Given the description of an element on the screen output the (x, y) to click on. 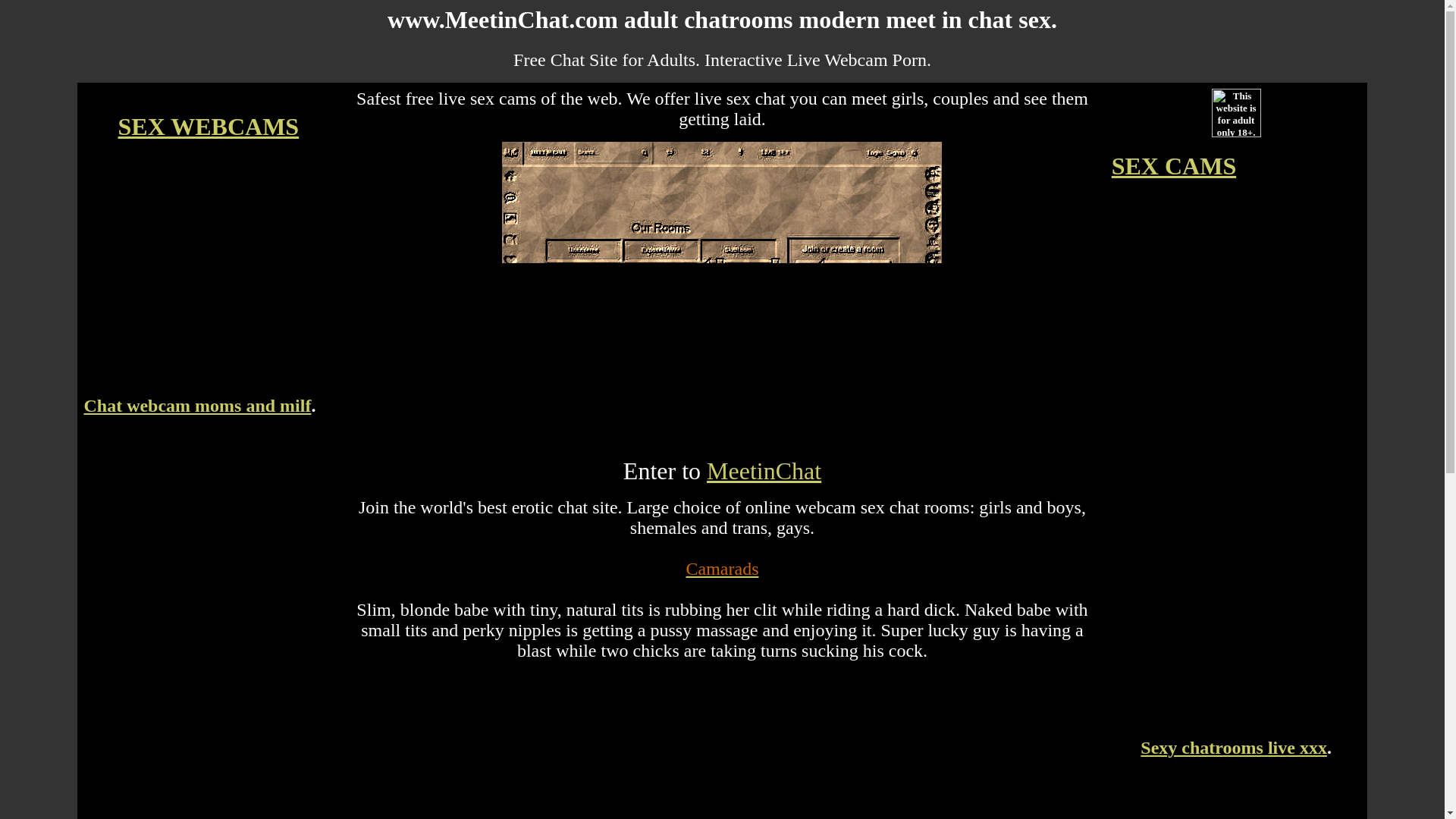
Camarads (721, 568)
SEX CAMS (1174, 165)
MeetinChat (763, 470)
Chat webcam moms and milf (196, 405)
Sexy chatrooms live xxx (1233, 747)
SEX WEBCAMS (208, 126)
